Given the description of an element on the screen output the (x, y) to click on. 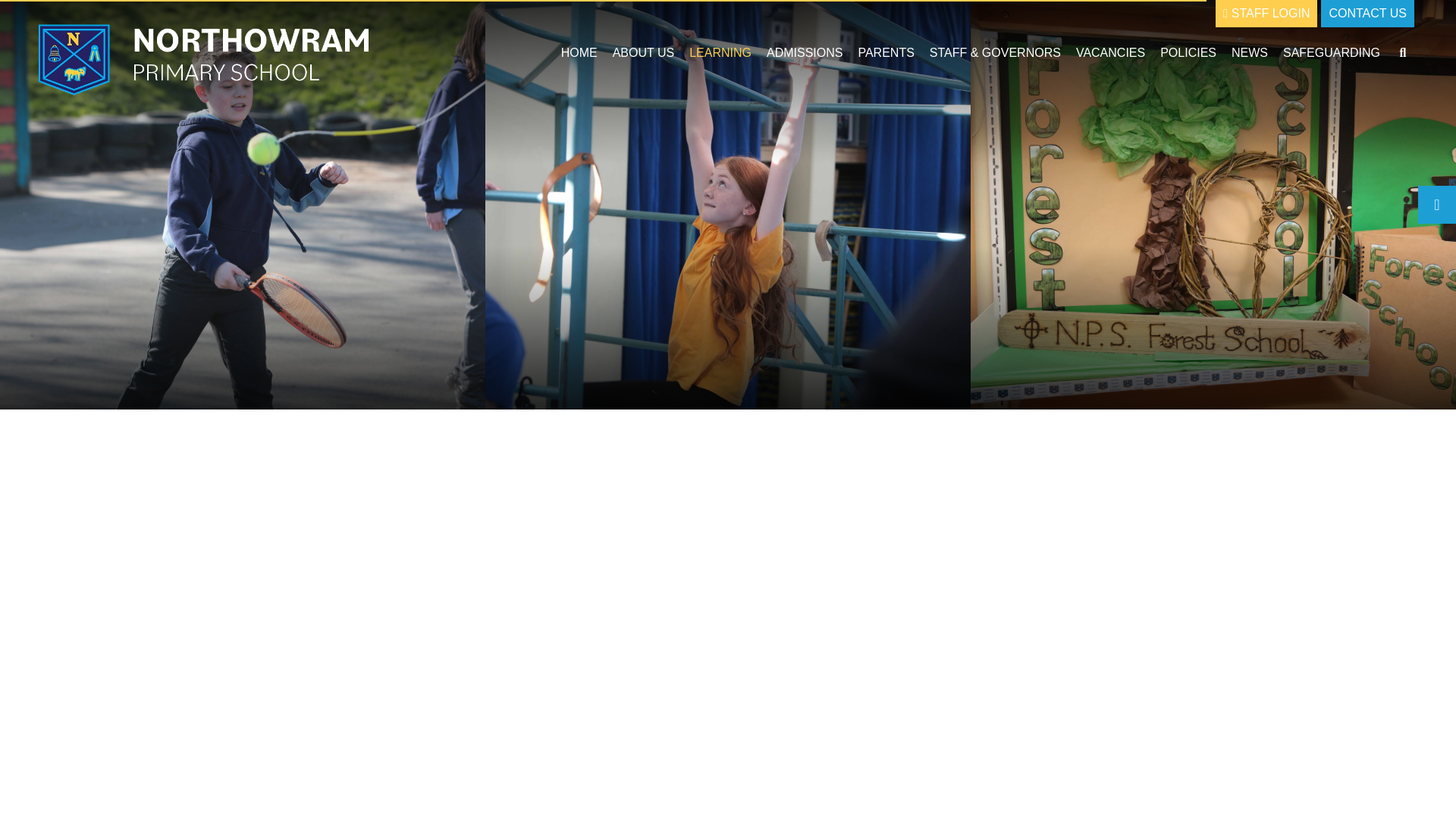
Admissions (804, 45)
SAFEGUARDING (1331, 45)
VACANCIES (1110, 45)
ADMISSIONS (804, 45)
